Given the description of an element on the screen output the (x, y) to click on. 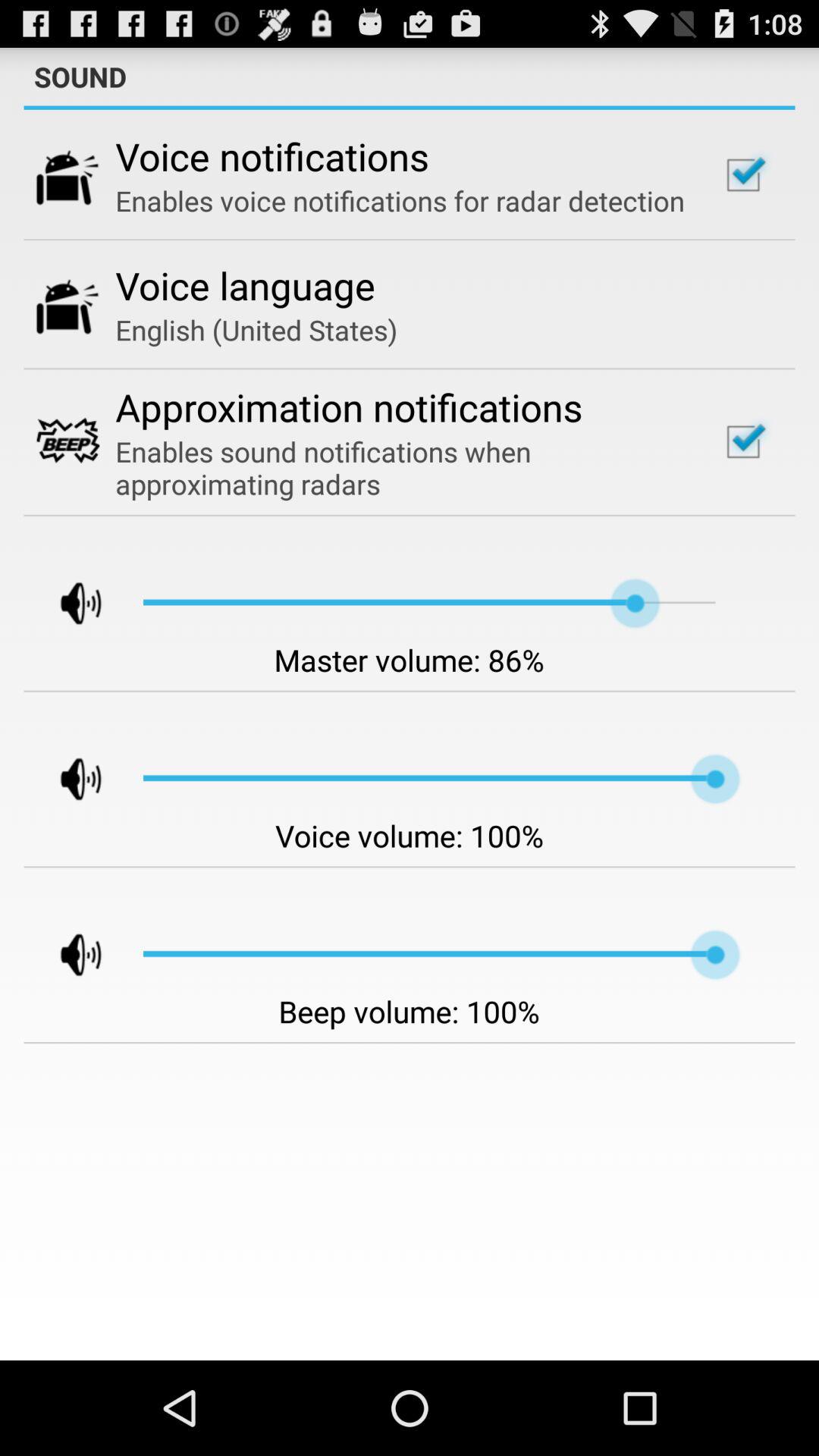
tap app above the voice notifications app (409, 107)
